Given the description of an element on the screen output the (x, y) to click on. 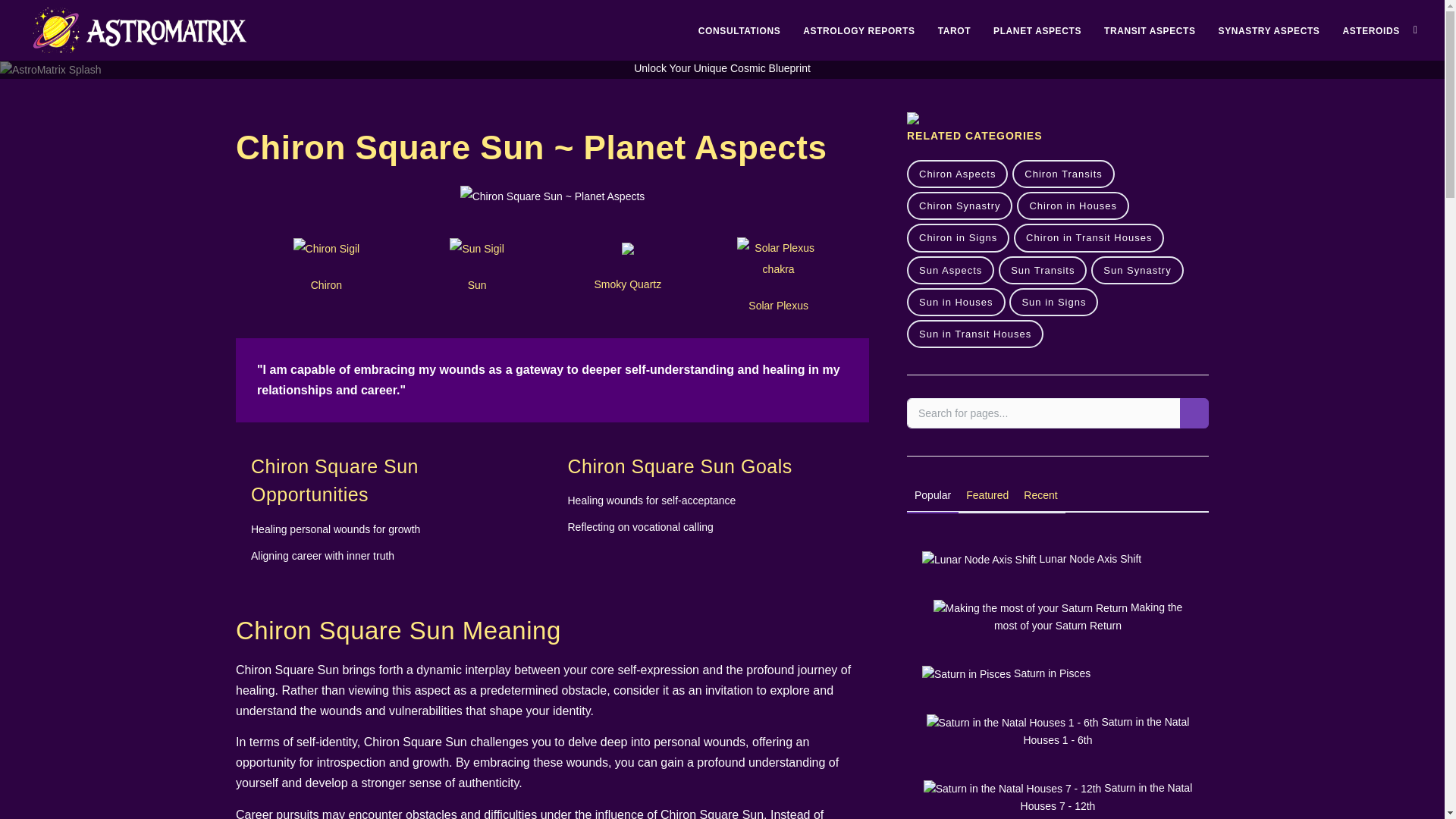
TRANSIT ASPECTS (1149, 31)
CONSULTATIONS (738, 31)
SYNASTRY ASPECTS (1269, 31)
ASTROLOGY REPORTS (858, 31)
TAROT (953, 31)
PLANET ASPECTS (1037, 31)
